Given the description of an element on the screen output the (x, y) to click on. 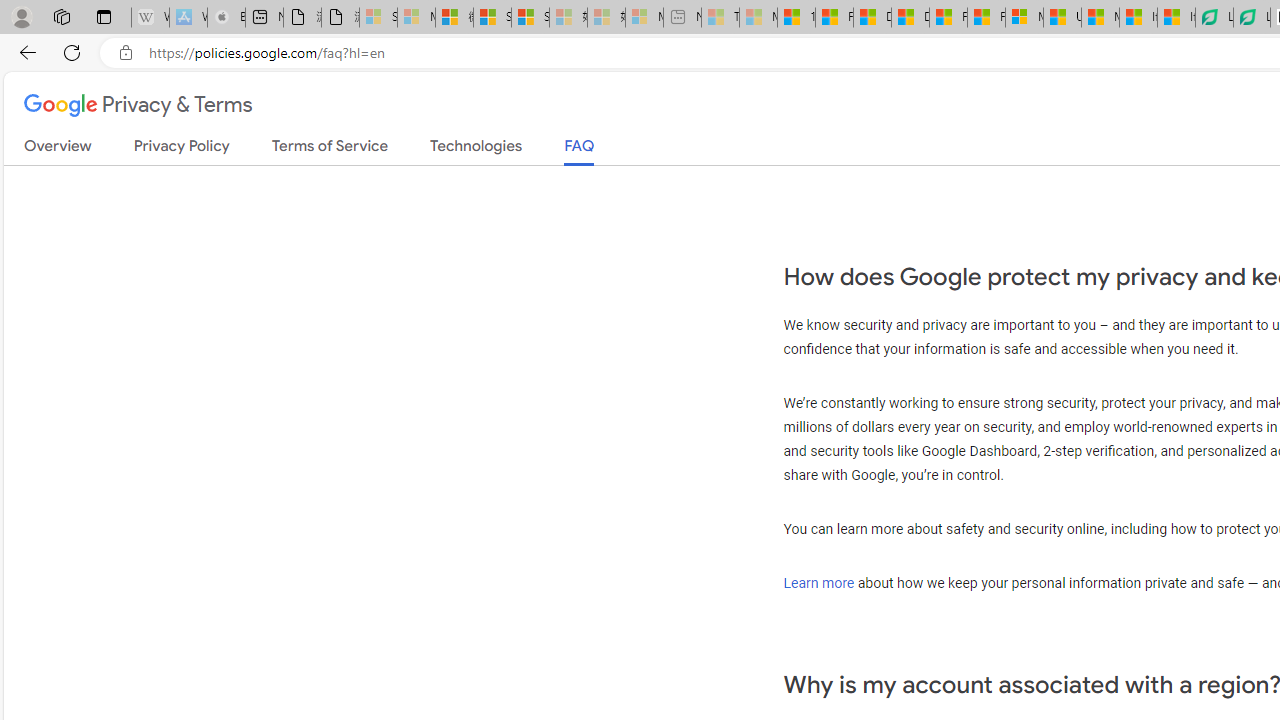
FAQ (579, 151)
Microsoft account | Account Checkup - Sleeping (644, 17)
LendingTree - Compare Lenders (1251, 17)
Top Stories - MSN - Sleeping (719, 17)
Terms of Service (330, 150)
Buy iPad - Apple - Sleeping (225, 17)
US Heat Deaths Soared To Record High Last Year (1062, 17)
Food and Drink - MSN (833, 17)
